Given the description of an element on the screen output the (x, y) to click on. 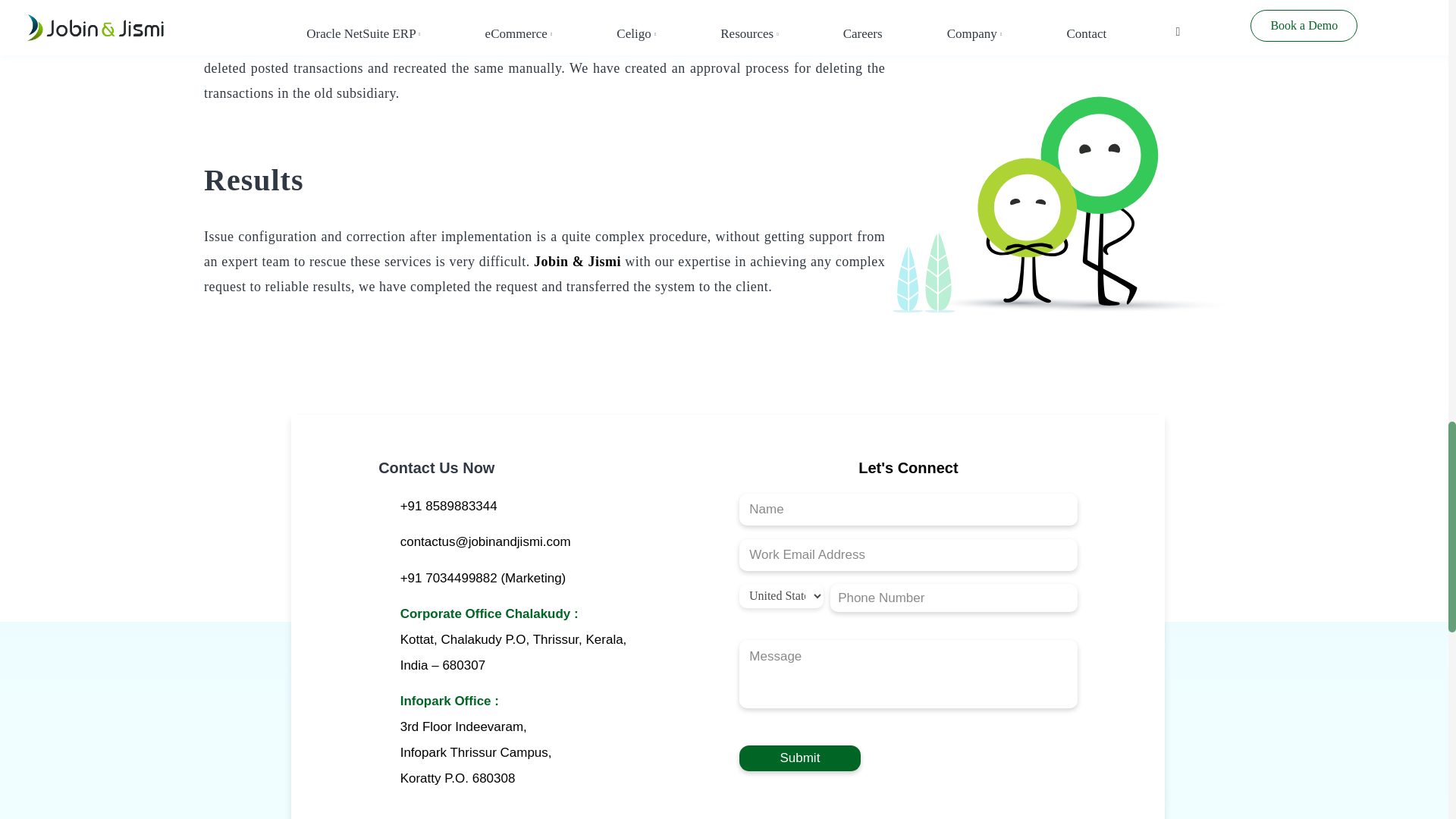
Submit (799, 758)
